Given the description of an element on the screen output the (x, y) to click on. 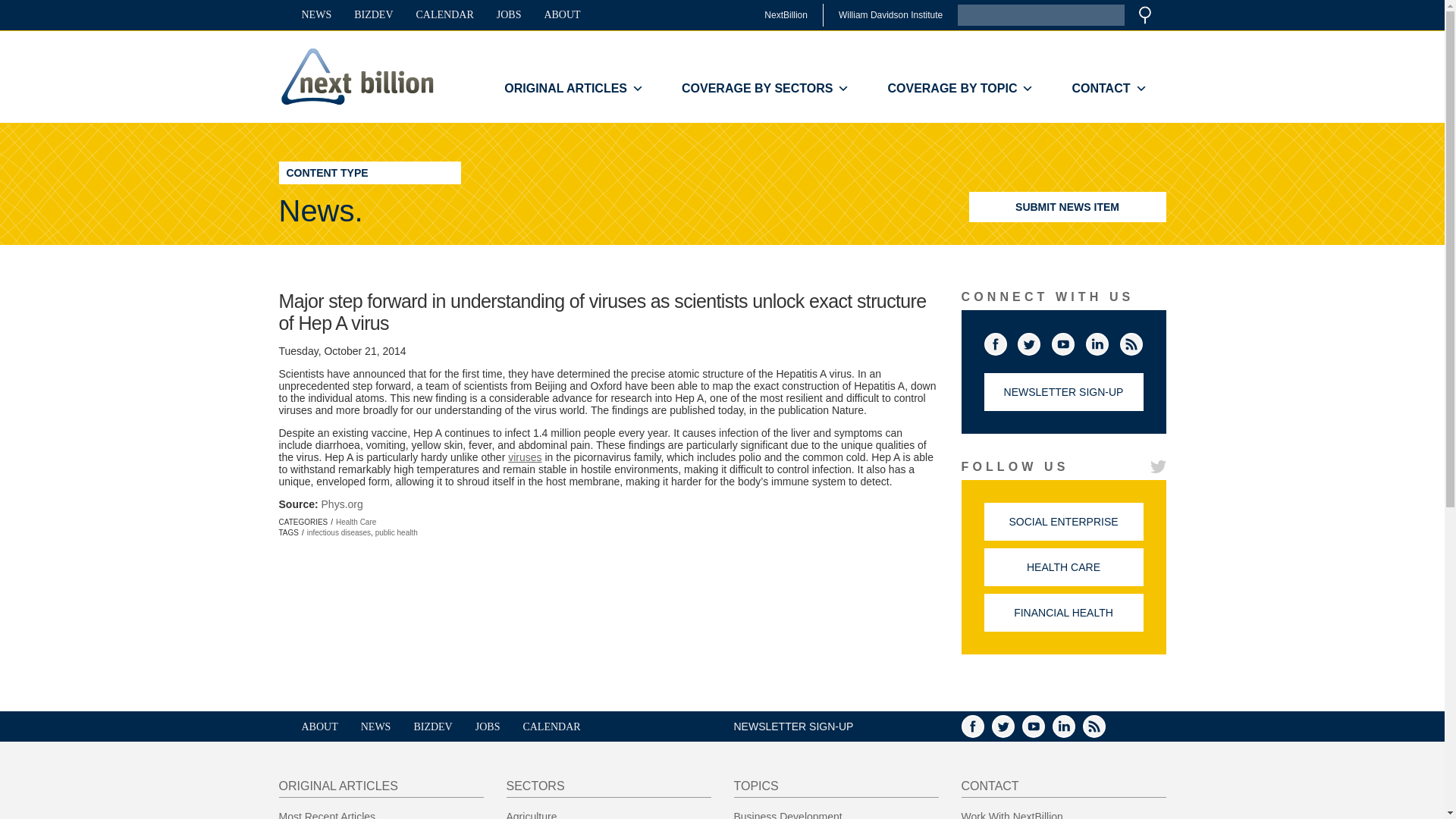
ORIGINAL ARTICLES (573, 88)
COVERAGE BY SECTORS (764, 88)
COVERAGE BY TOPIC (959, 88)
